Given the description of an element on the screen output the (x, y) to click on. 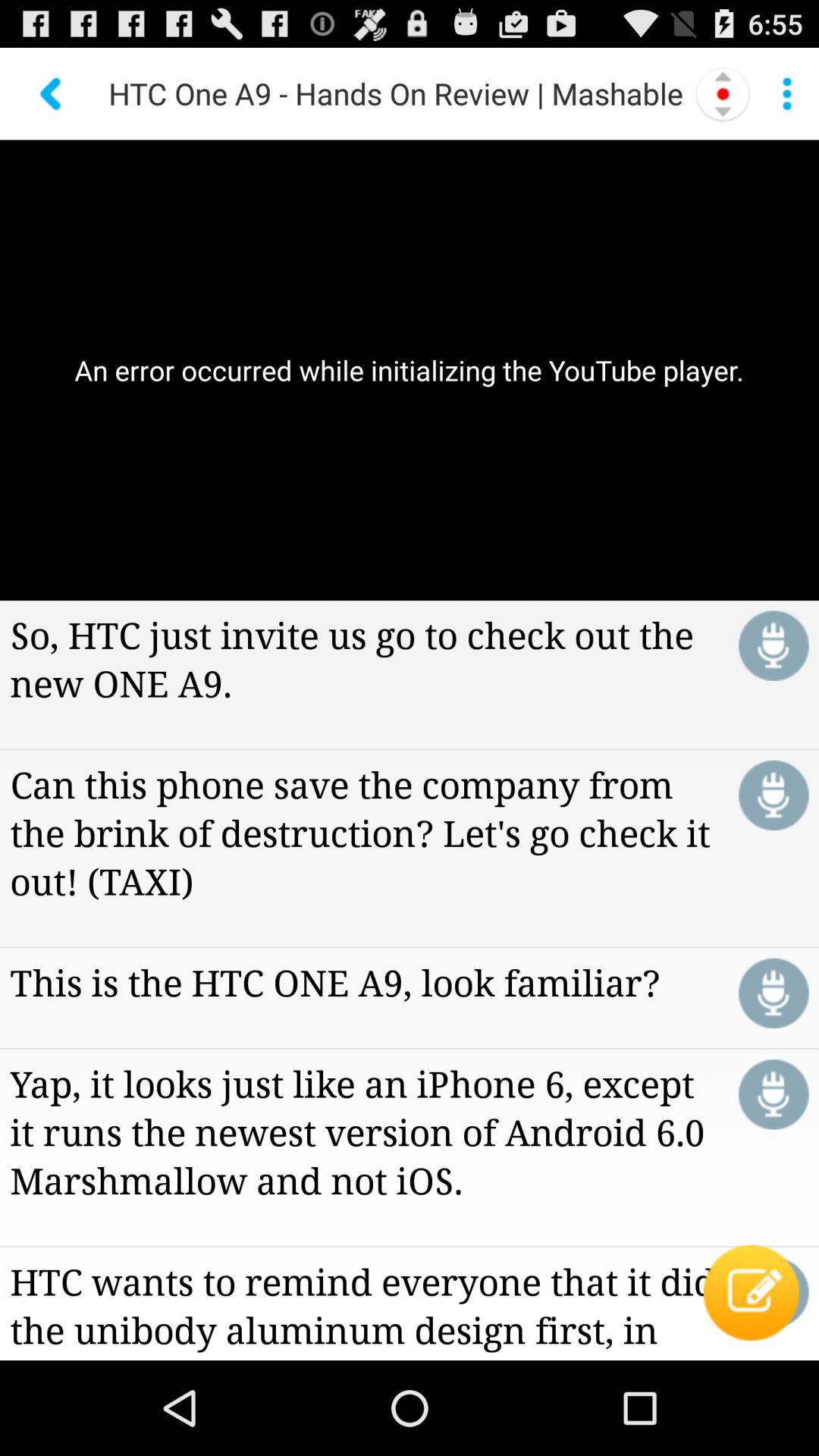
open can this phone icon (364, 832)
